Given the description of an element on the screen output the (x, y) to click on. 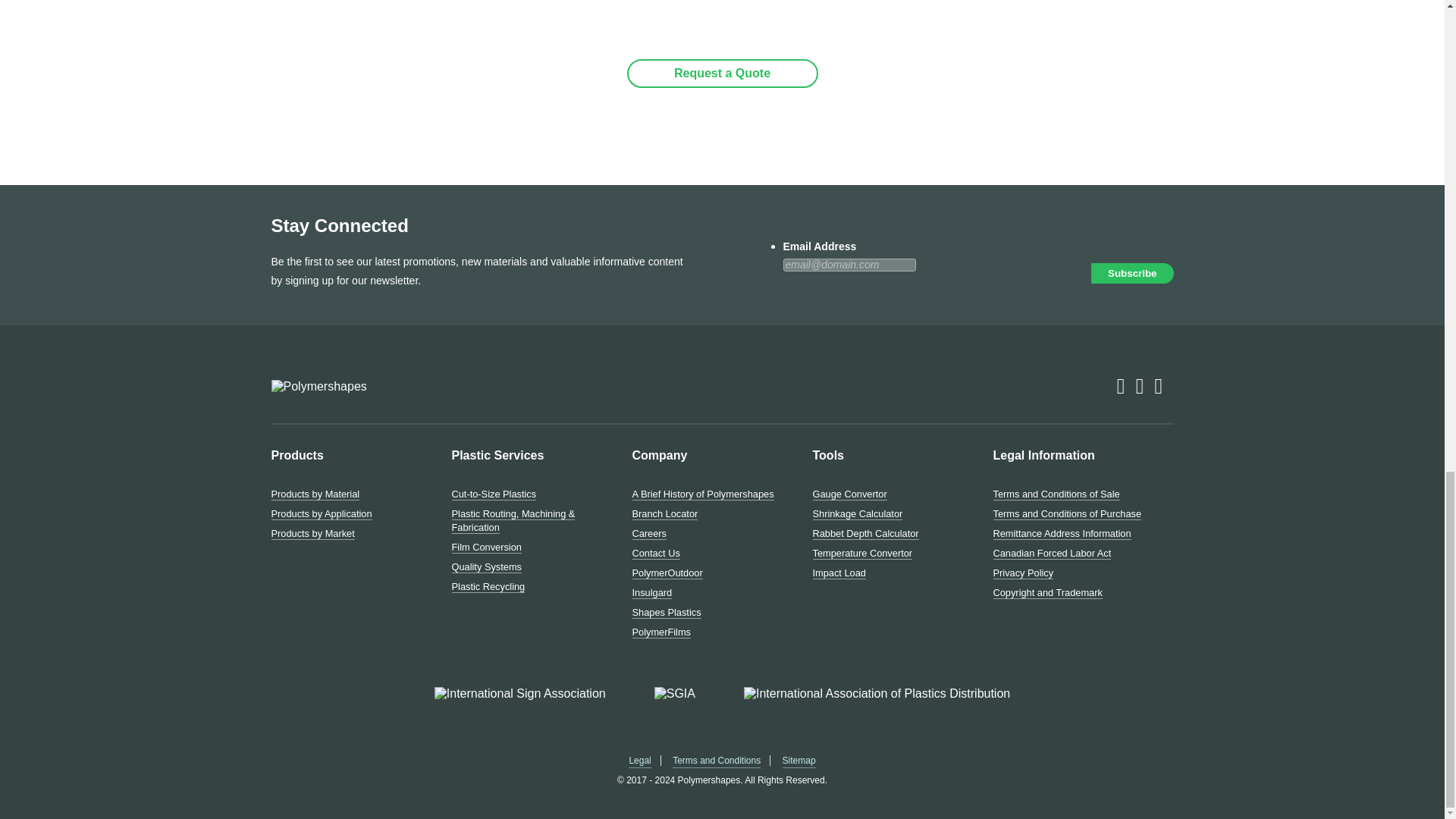
International Sign Association (519, 694)
SGIA (674, 694)
Request a Quote (721, 72)
Subscribe (1131, 272)
International Association of Plastics Distribution (877, 694)
Subscribe (1131, 272)
